Given the description of an element on the screen output the (x, y) to click on. 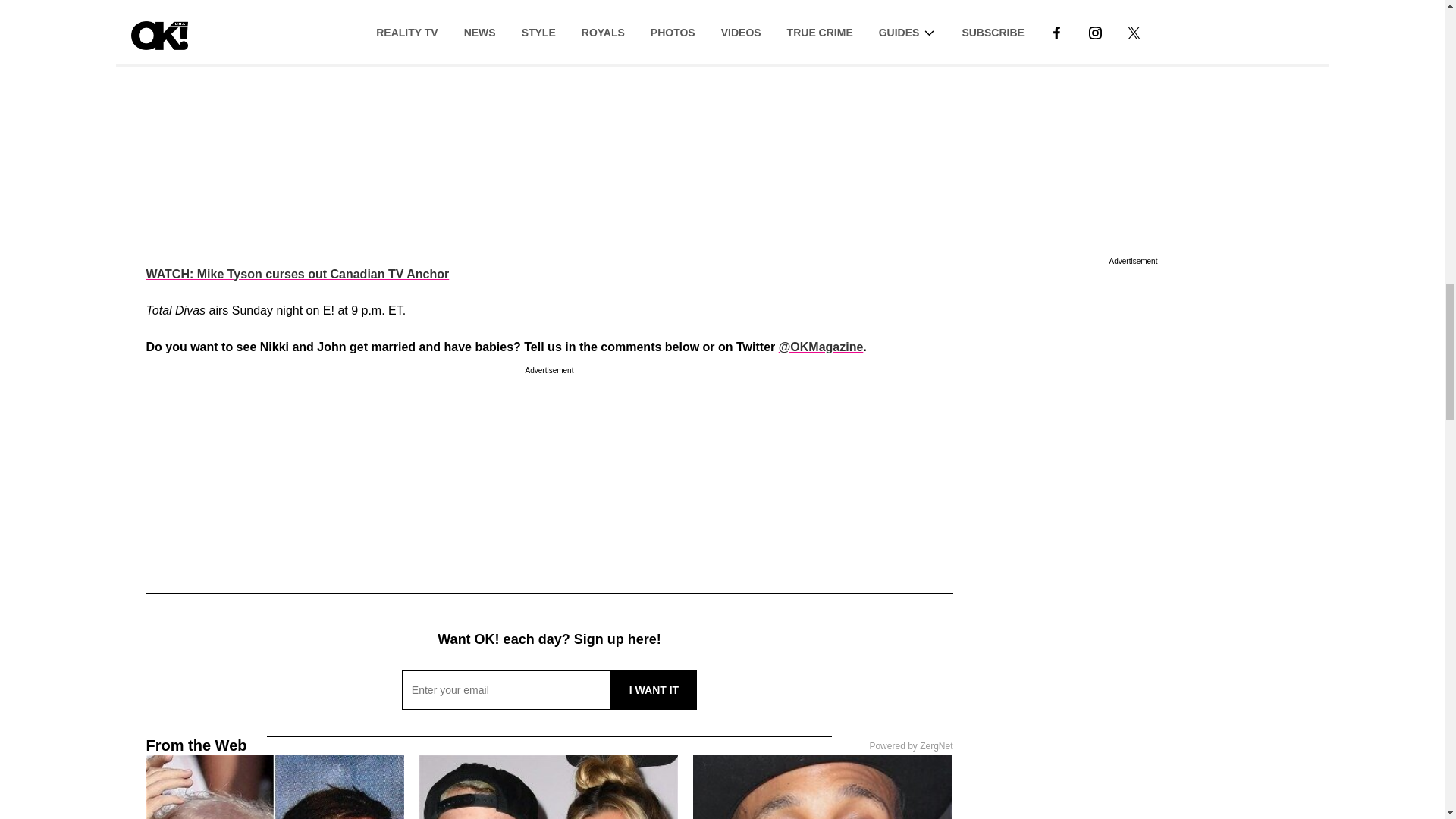
I WANT IT (654, 690)
